Given the description of an element on the screen output the (x, y) to click on. 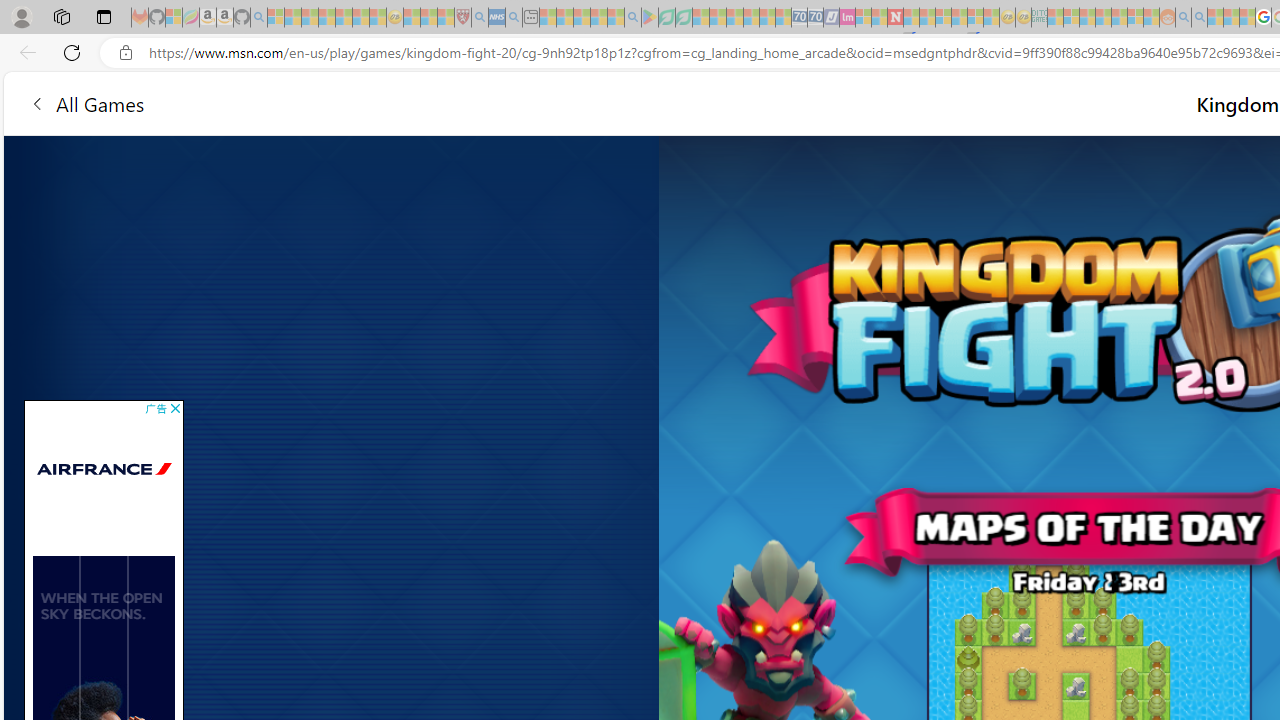
utah sues federal government - Search - Sleeping (513, 17)
Pets - MSN - Sleeping (598, 17)
